Given the description of an element on the screen output the (x, y) to click on. 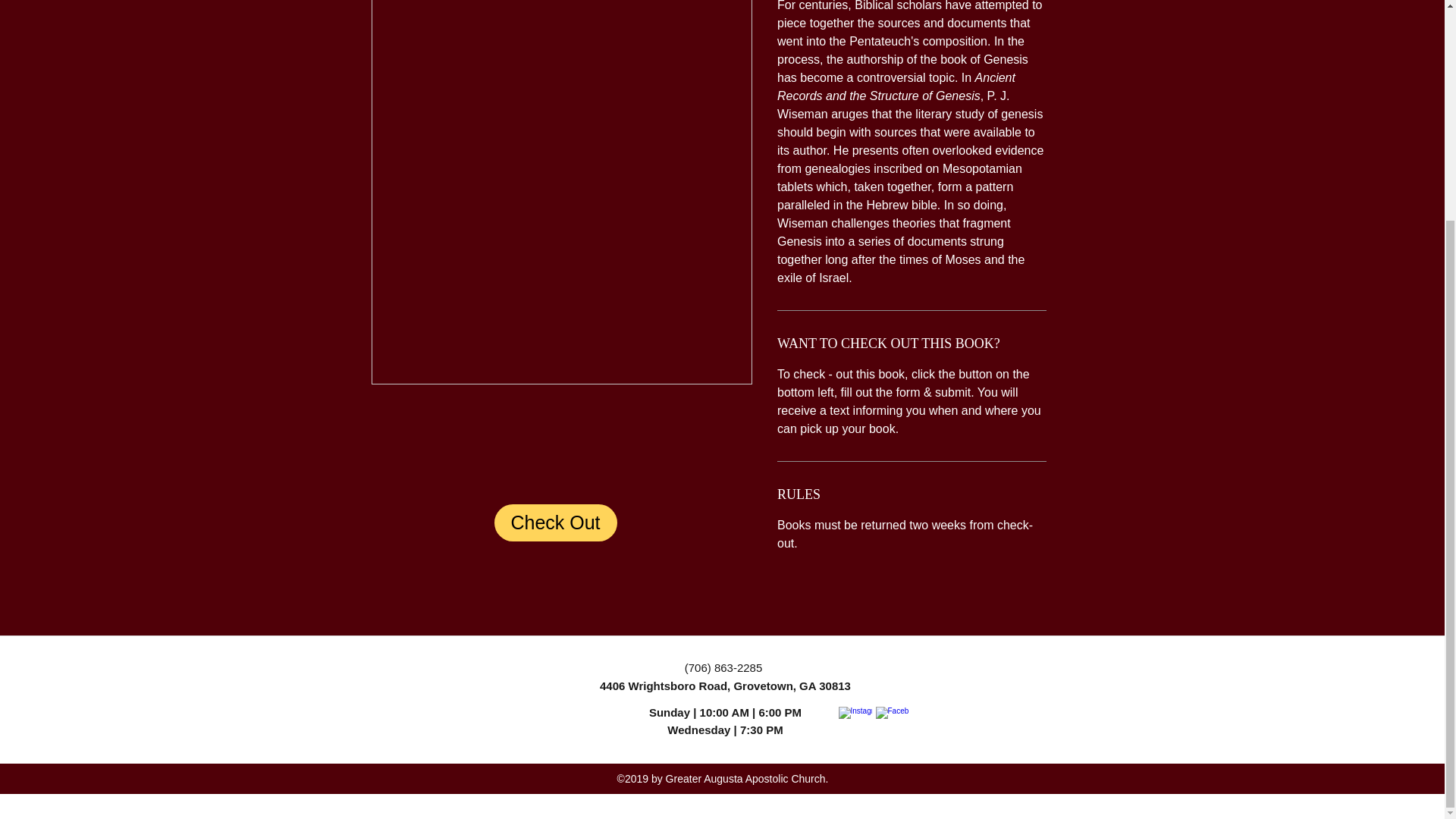
Check Out (556, 522)
